Given the description of an element on the screen output the (x, y) to click on. 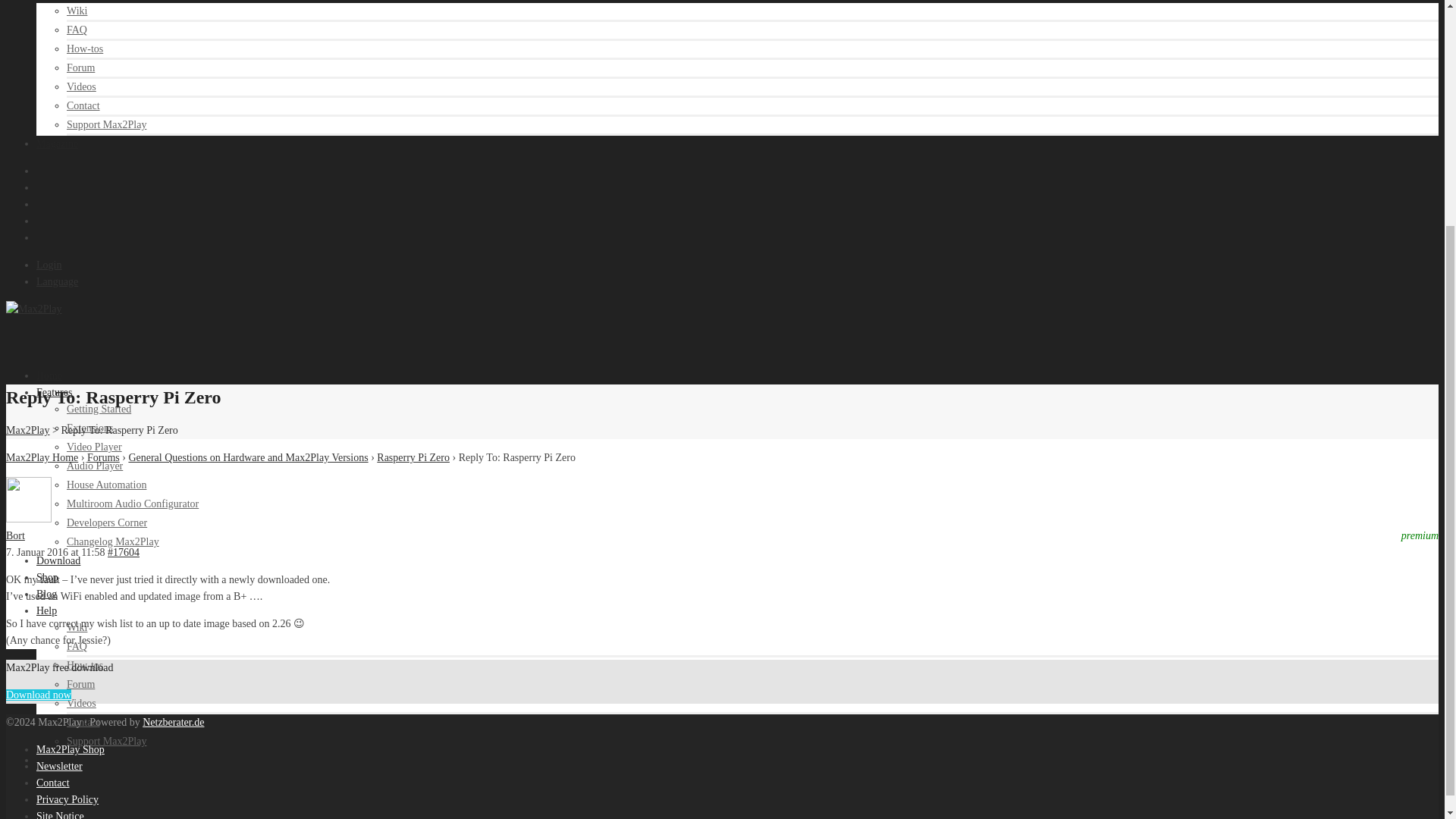
Video Player (94, 446)
Forum (80, 67)
Login (48, 265)
House Automation (106, 484)
How-tos (84, 48)
Home (49, 375)
Features (53, 392)
Audio Player (94, 465)
Reply To: Rasperry Pi Zero (123, 552)
Getting Started (98, 408)
